Given the description of an element on the screen output the (x, y) to click on. 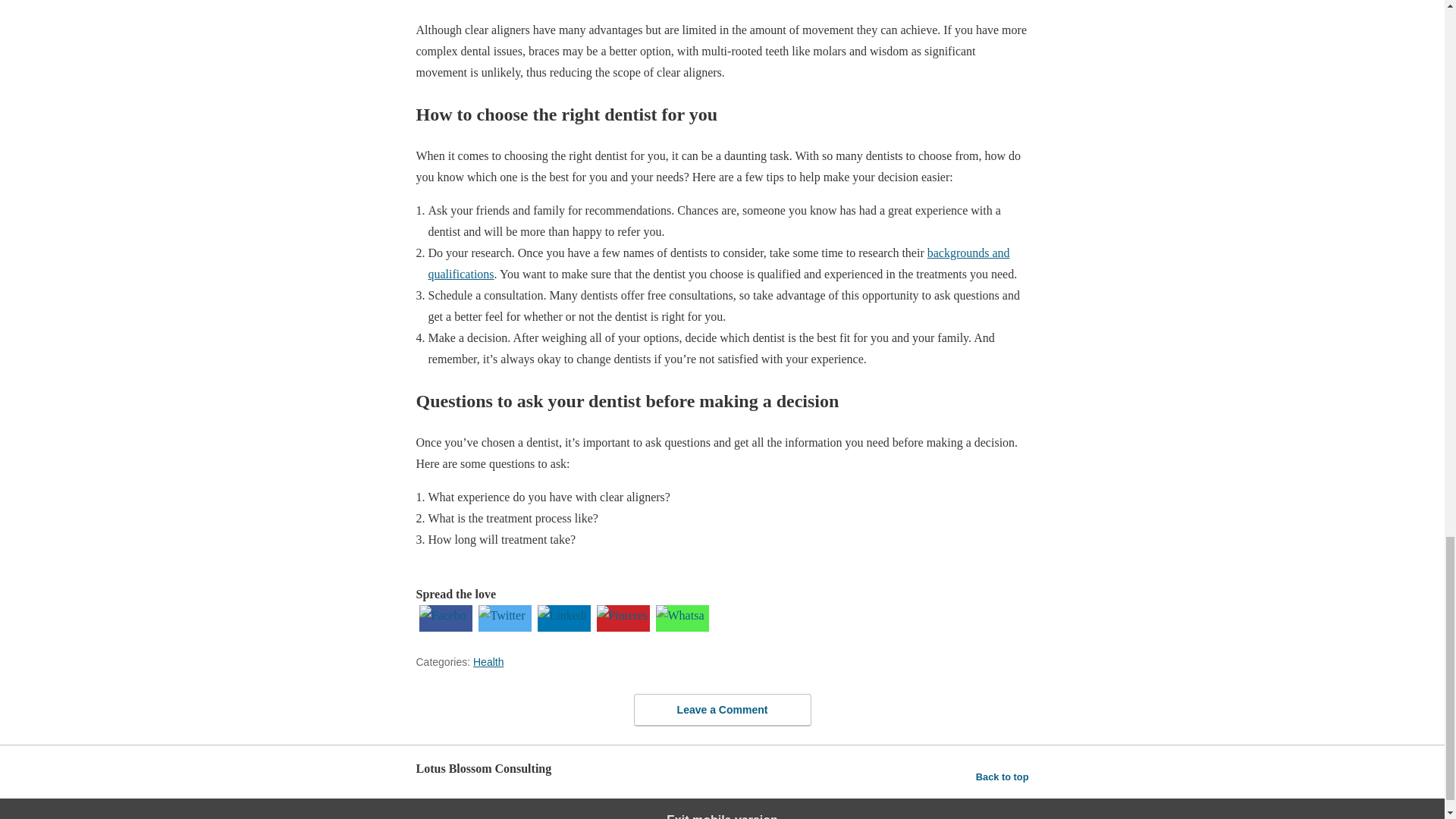
Whatsapp (681, 626)
Twitter (504, 626)
Back to top (1002, 777)
Facebook (444, 626)
Leave a Comment (721, 709)
Health (488, 662)
Linkedin (563, 626)
backgrounds and qualifications (718, 263)
Pinterest (622, 626)
